Given the description of an element on the screen output the (x, y) to click on. 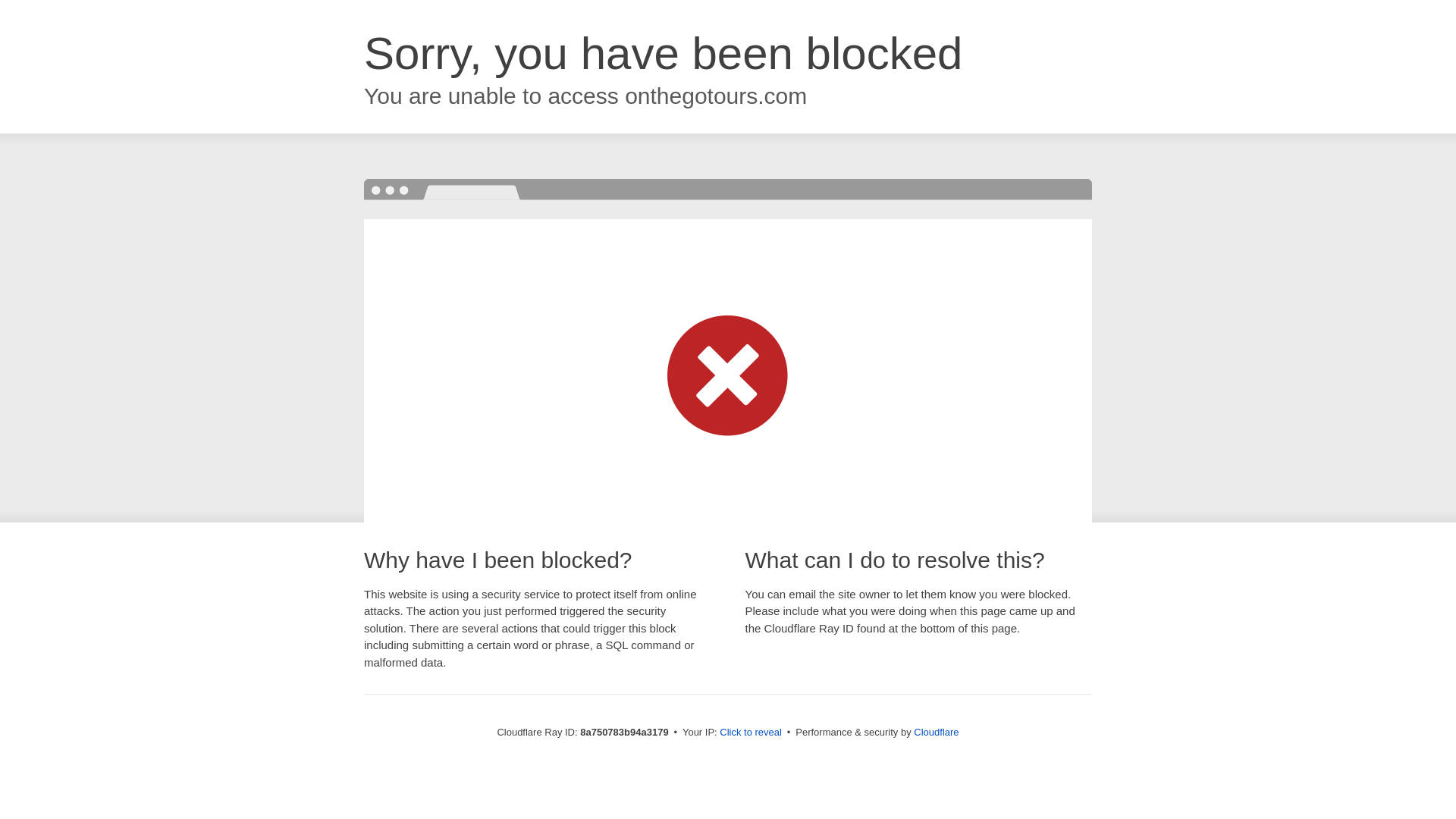
Cloudflare (936, 731)
Click to reveal (750, 732)
